Given the description of an element on the screen output the (x, y) to click on. 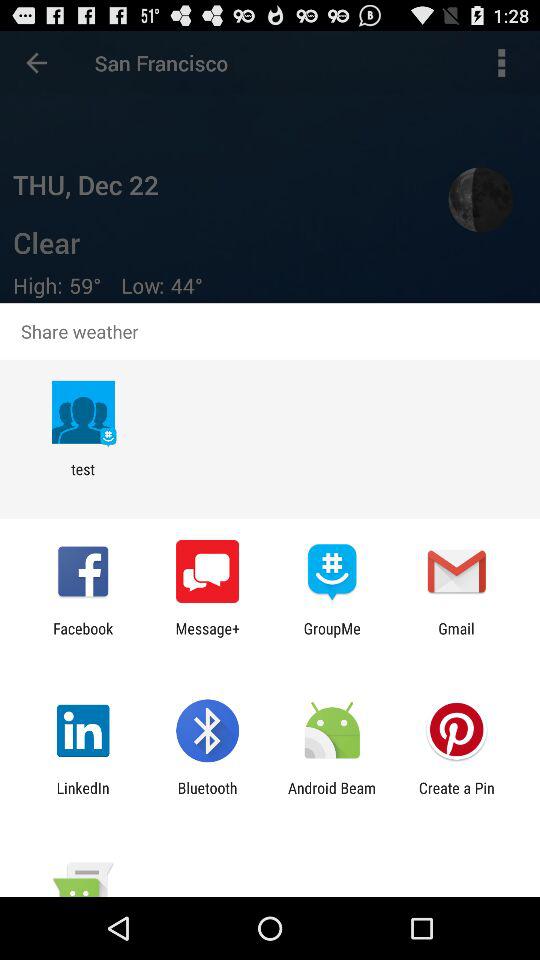
press the gmail item (456, 637)
